Given the description of an element on the screen output the (x, y) to click on. 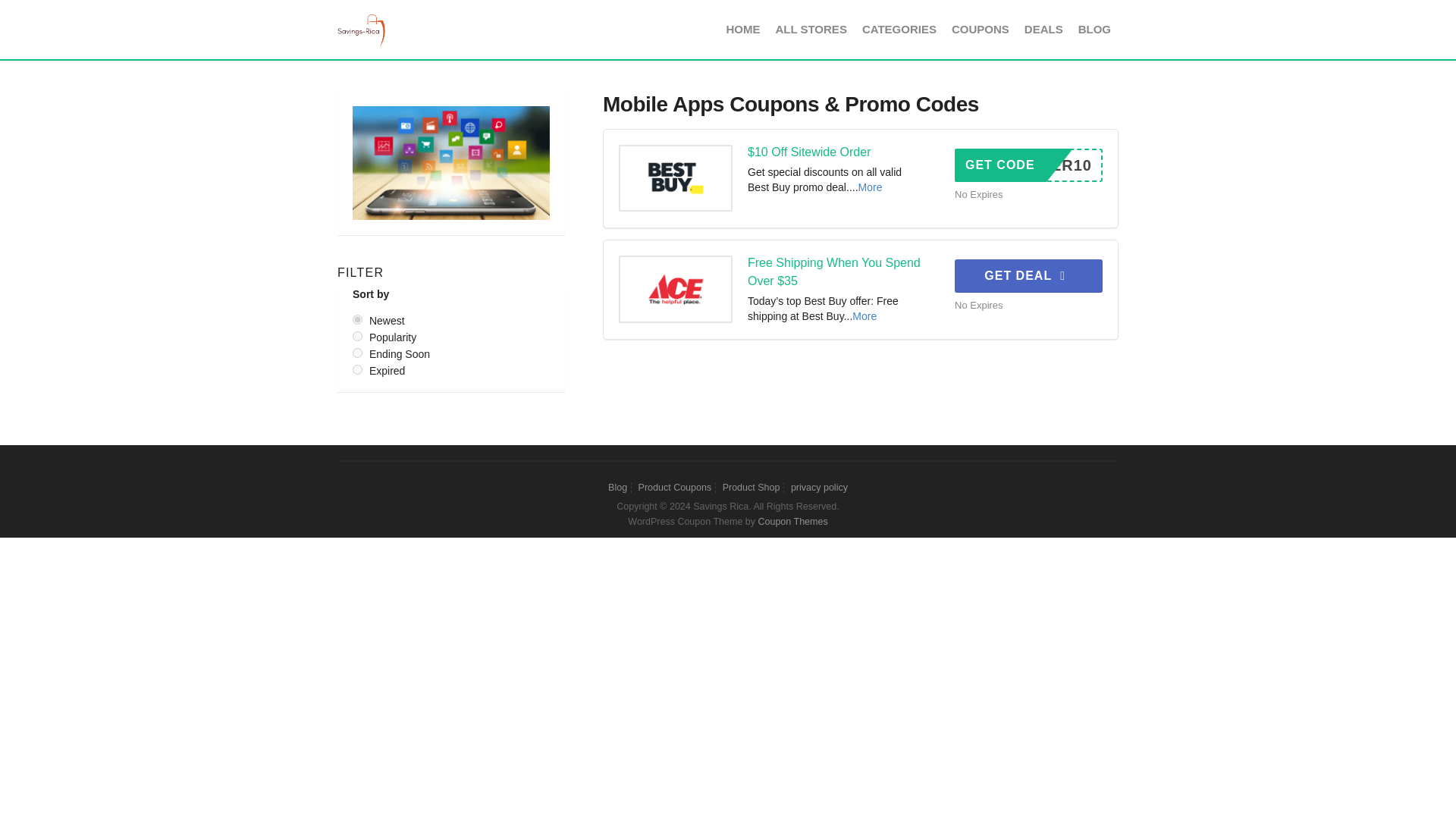
Coupon Themes (792, 521)
Product Coupons (675, 487)
ALL STORES (1028, 164)
newest (810, 29)
expired (357, 319)
popularity (357, 369)
More (357, 336)
Savings Rica (863, 316)
DEALS (362, 28)
BLOG (1043, 29)
HOME (1094, 29)
Best Buy (746, 29)
GET DEAL (676, 178)
Product Shop (1028, 275)
